Given the description of an element on the screen output the (x, y) to click on. 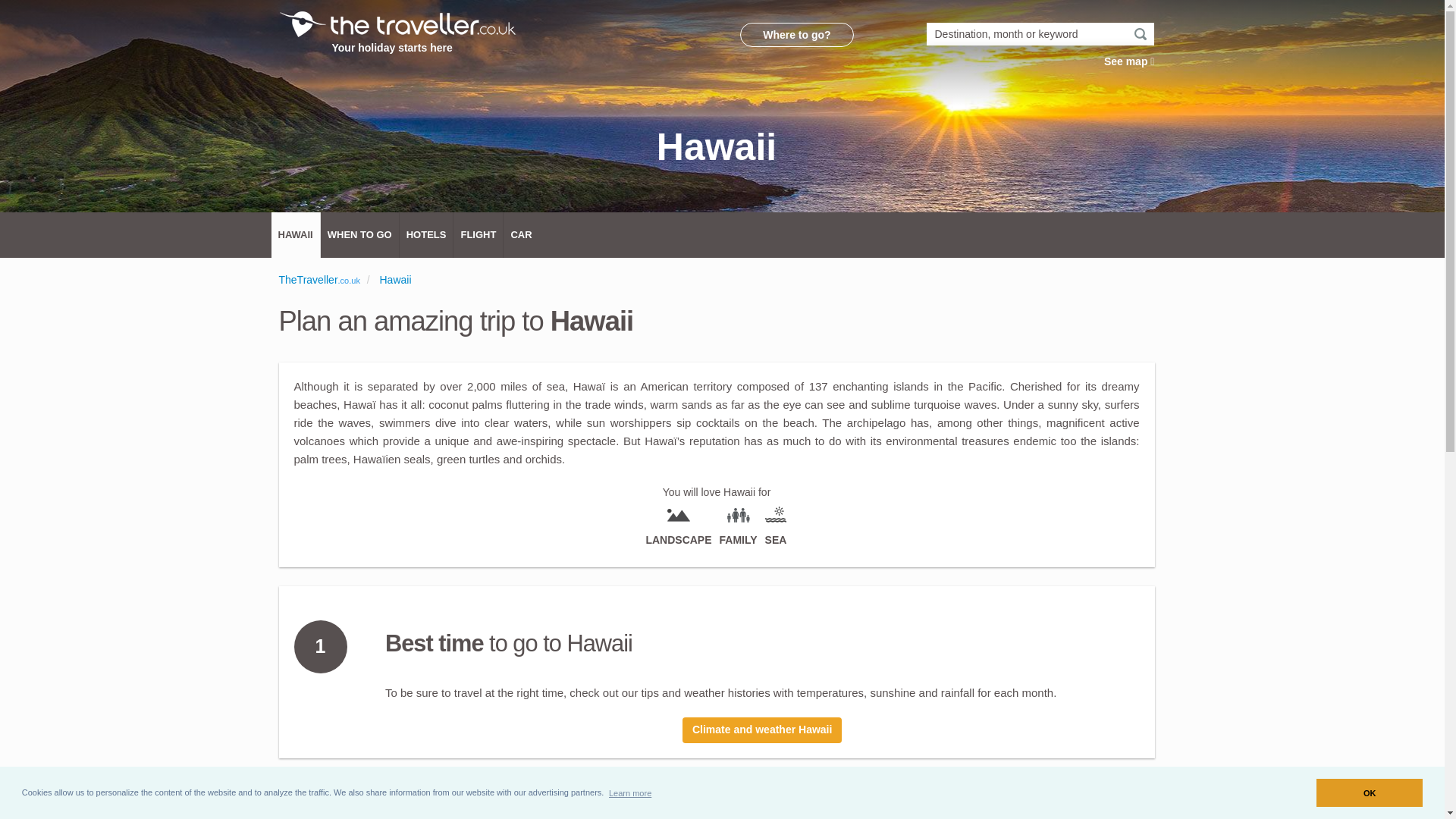
WHEN TO GO (359, 234)
CAR (520, 234)
Hawaii (394, 279)
TheTraveller (308, 279)
HOTELS (426, 234)
Climate and weather Hawaii (761, 729)
Destination, month or keyword (1040, 33)
Learn more (630, 792)
inspire me! (801, 34)
Where to go? (801, 34)
OK (1369, 792)
FLIGHT (477, 234)
HAWAII (295, 234)
See map (1128, 61)
